Given the description of an element on the screen output the (x, y) to click on. 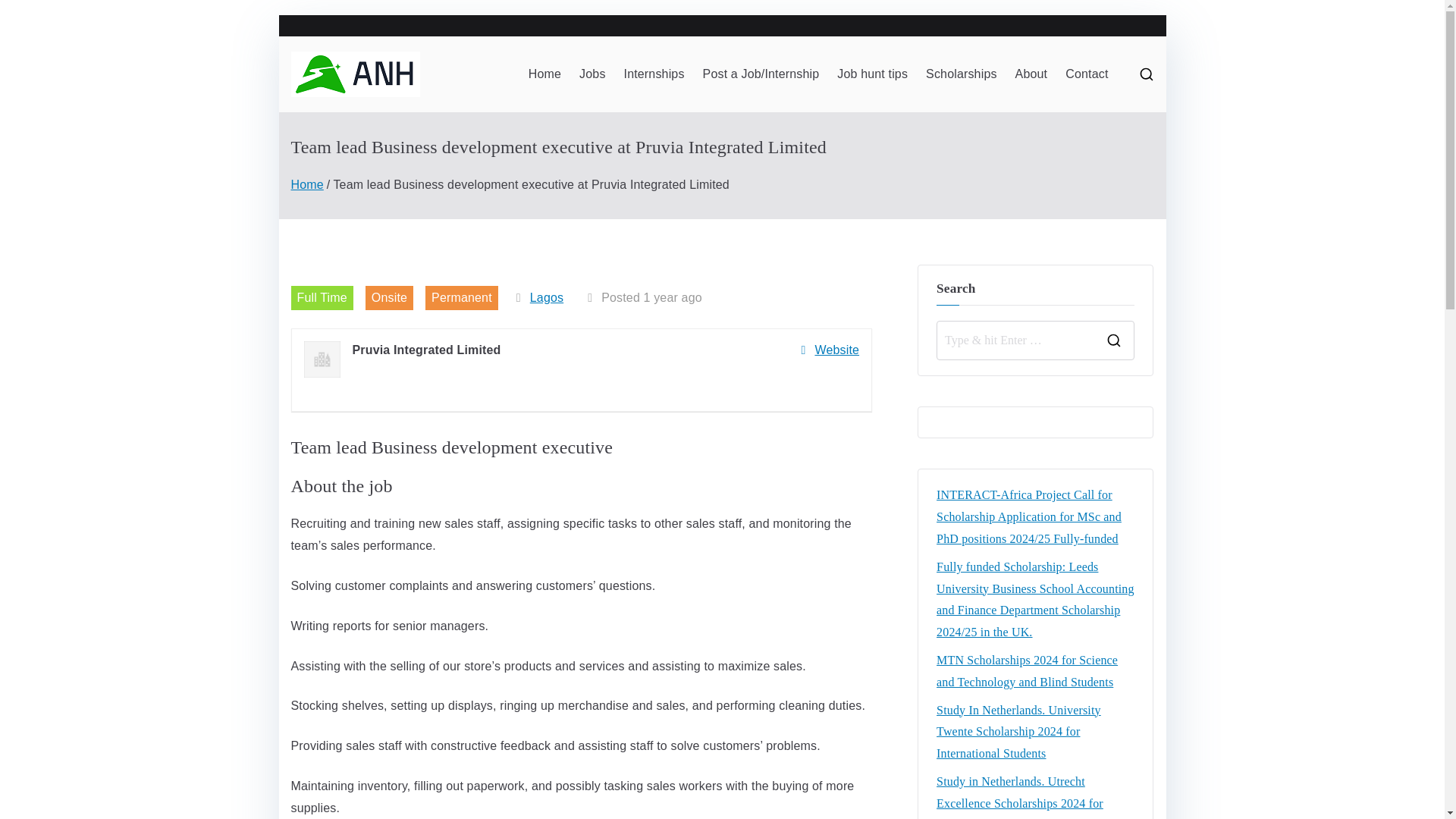
Lagos (546, 297)
Always Never Home (580, 93)
Jobs (592, 74)
Scholarships (961, 74)
Website (829, 350)
Home (544, 74)
Contact (1086, 74)
Home (307, 184)
Search for: (1015, 340)
